Given the description of an element on the screen output the (x, y) to click on. 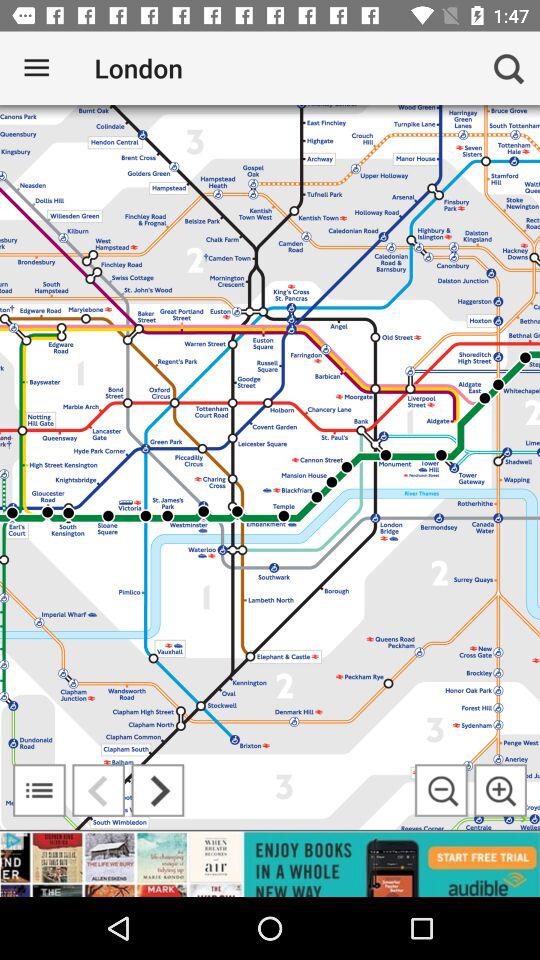
go forward (157, 790)
